Given the description of an element on the screen output the (x, y) to click on. 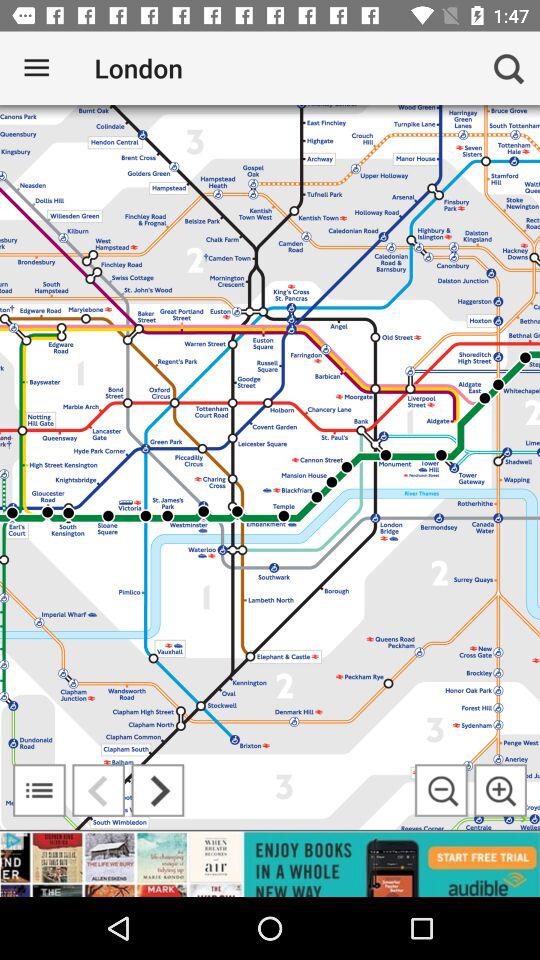
go forward (157, 790)
